Given the description of an element on the screen output the (x, y) to click on. 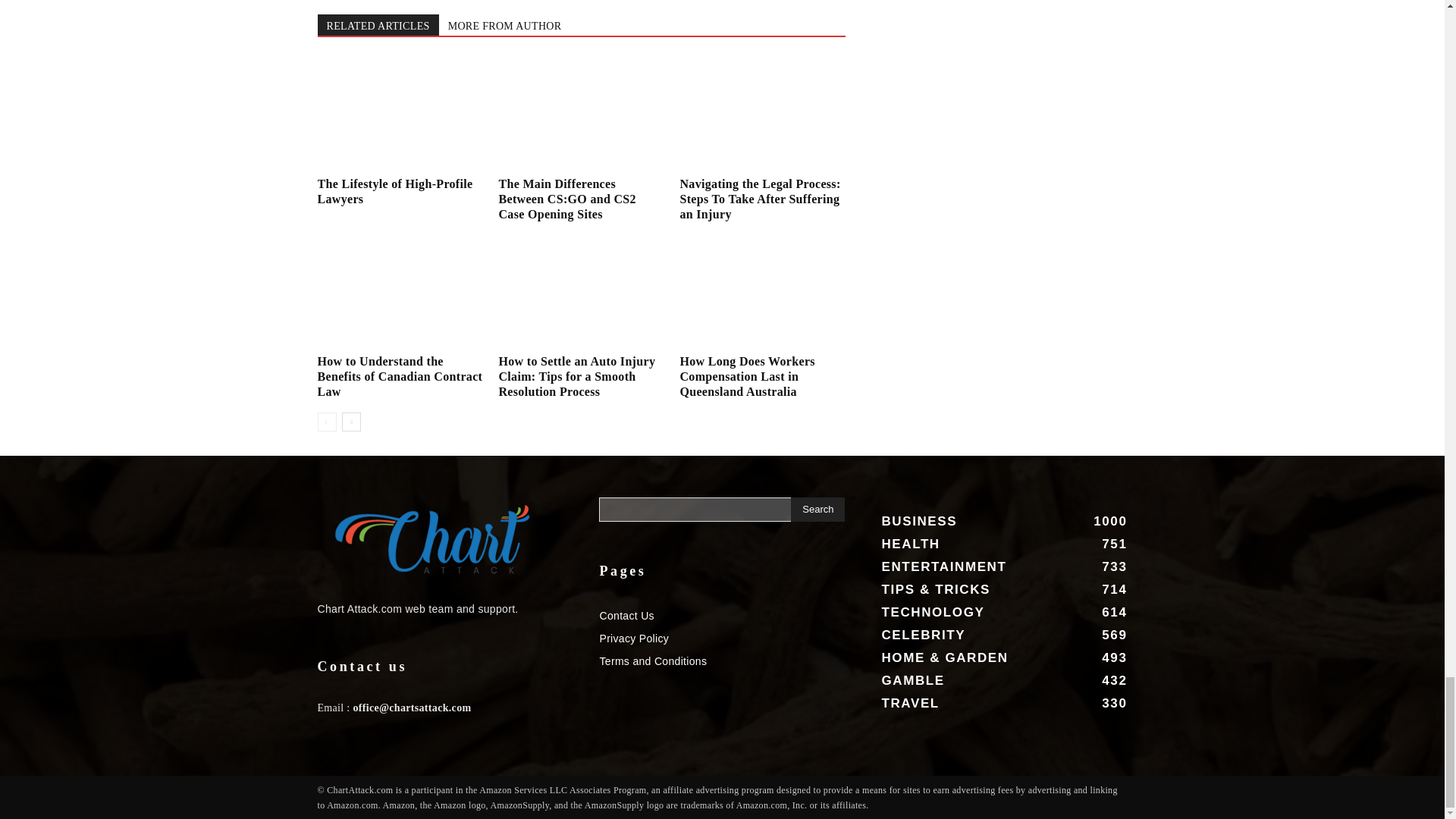
Search (817, 509)
The Lifestyle of High-Profile Lawyers (394, 191)
The Lifestyle of High-Profile Lawyers (399, 114)
